Given the description of an element on the screen output the (x, y) to click on. 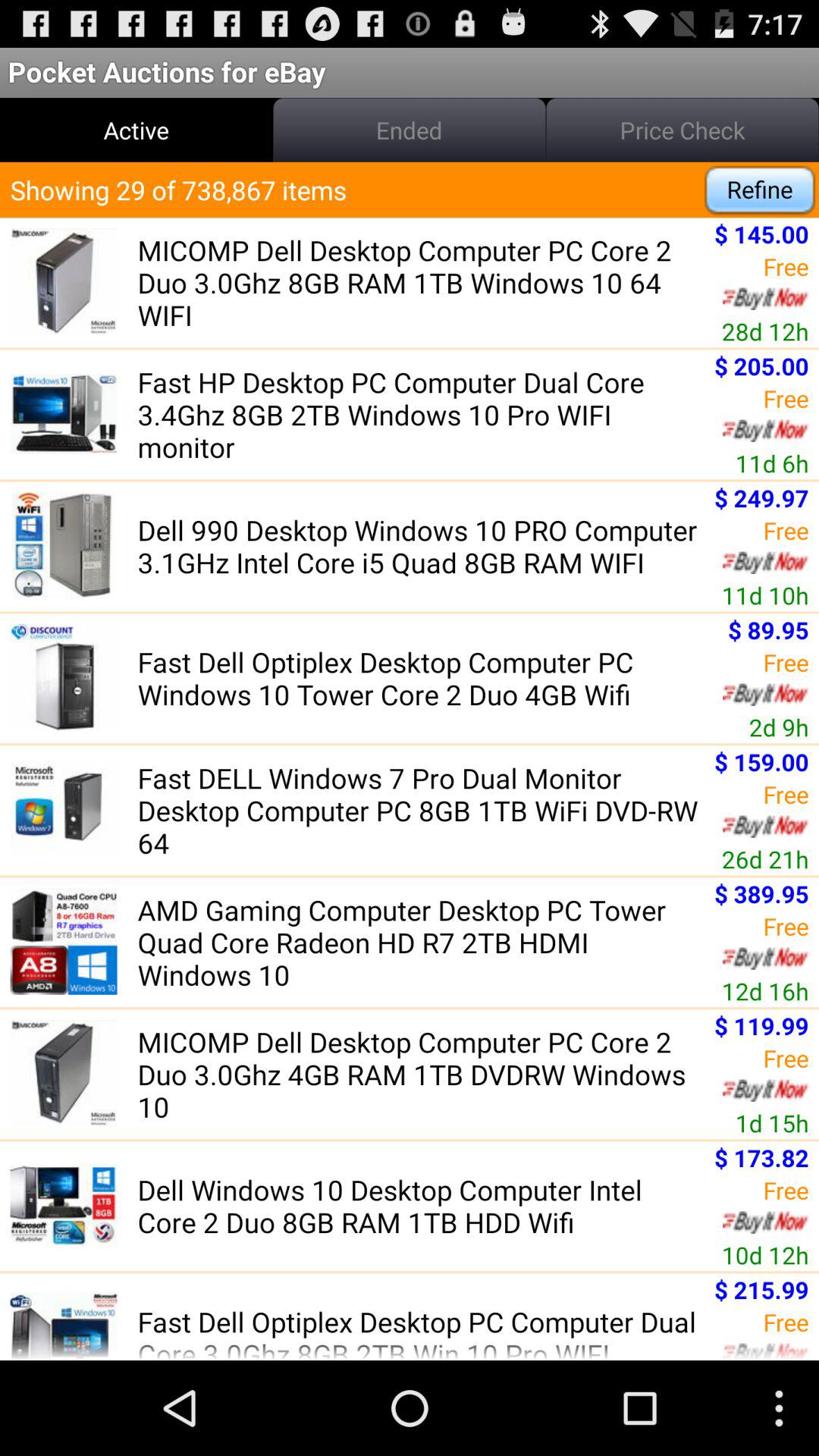
open the icon below the price check item (759, 189)
